Given the description of an element on the screen output the (x, y) to click on. 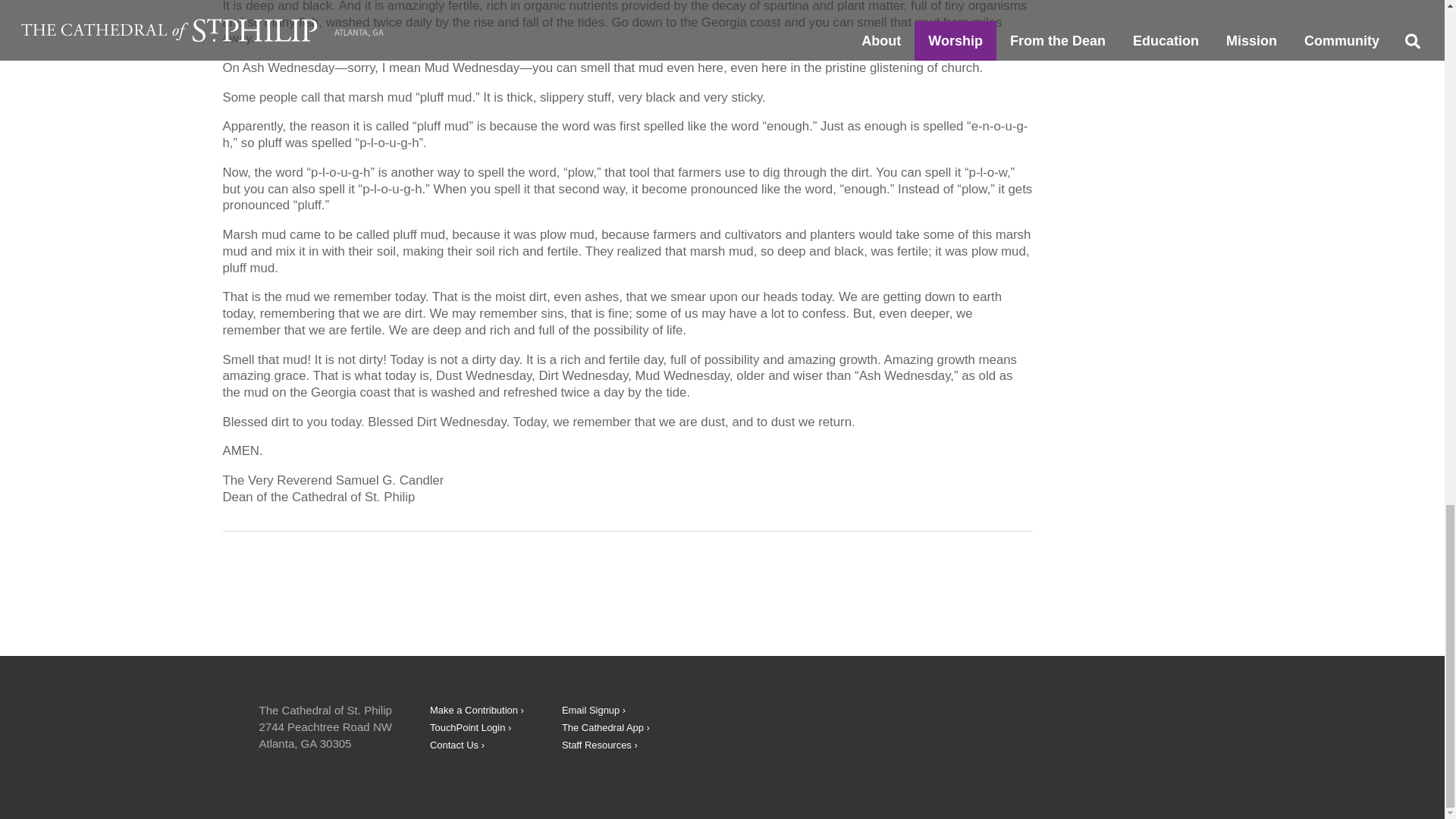
Find us on Facebook (1009, 724)
Watch us on Youtube (1066, 724)
Follow us on Instagram (1123, 724)
